Given the description of an element on the screen output the (x, y) to click on. 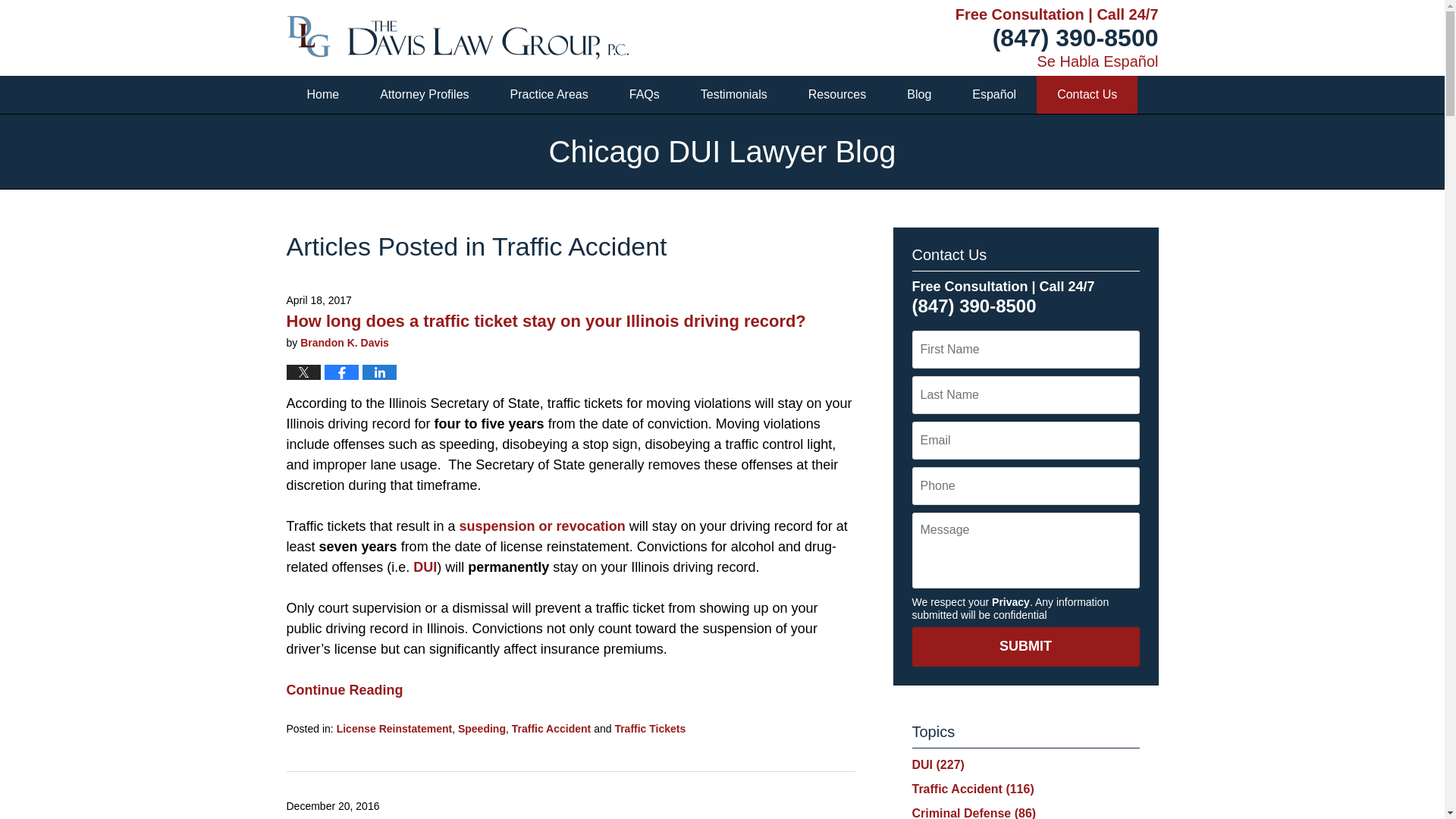
View all posts in License Reinstatement (394, 728)
Attorney Profiles (424, 94)
Resources (836, 94)
View all posts in Traffic Accident (551, 728)
Testimonials (733, 94)
FAQs (643, 94)
View all posts in Traffic Tickets (649, 728)
Practice Areas (548, 94)
Published by The Davis Law Group, P.C. (457, 37)
View all posts in Speeding (481, 728)
Contact Us (1086, 94)
Blog (919, 94)
